Given the description of an element on the screen output the (x, y) to click on. 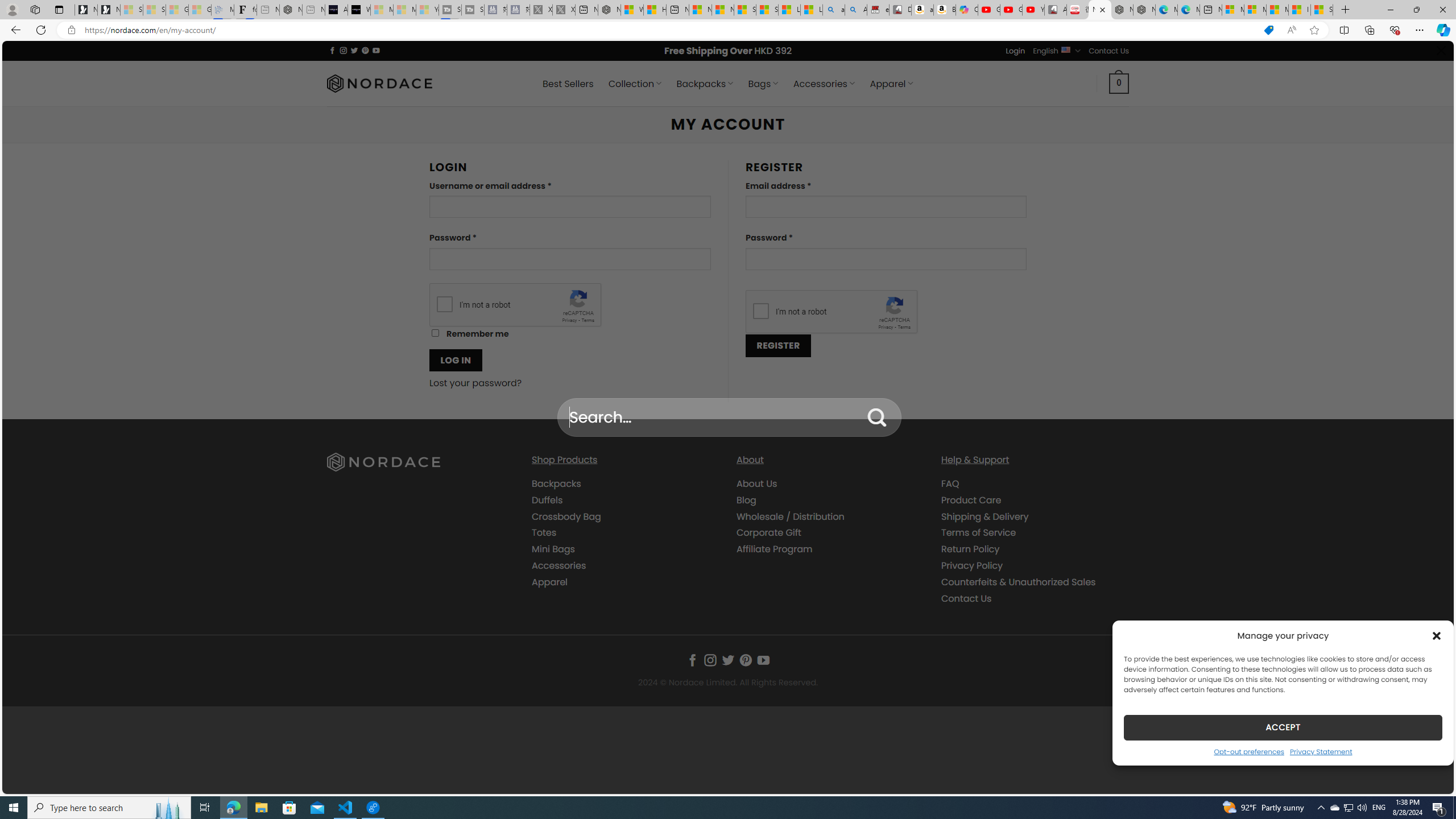
Copilot (966, 9)
Backpacks (625, 483)
Login (1015, 50)
Follow on YouTube (763, 659)
Apparel (625, 581)
Follow on Facebook (691, 659)
